Given the description of an element on the screen output the (x, y) to click on. 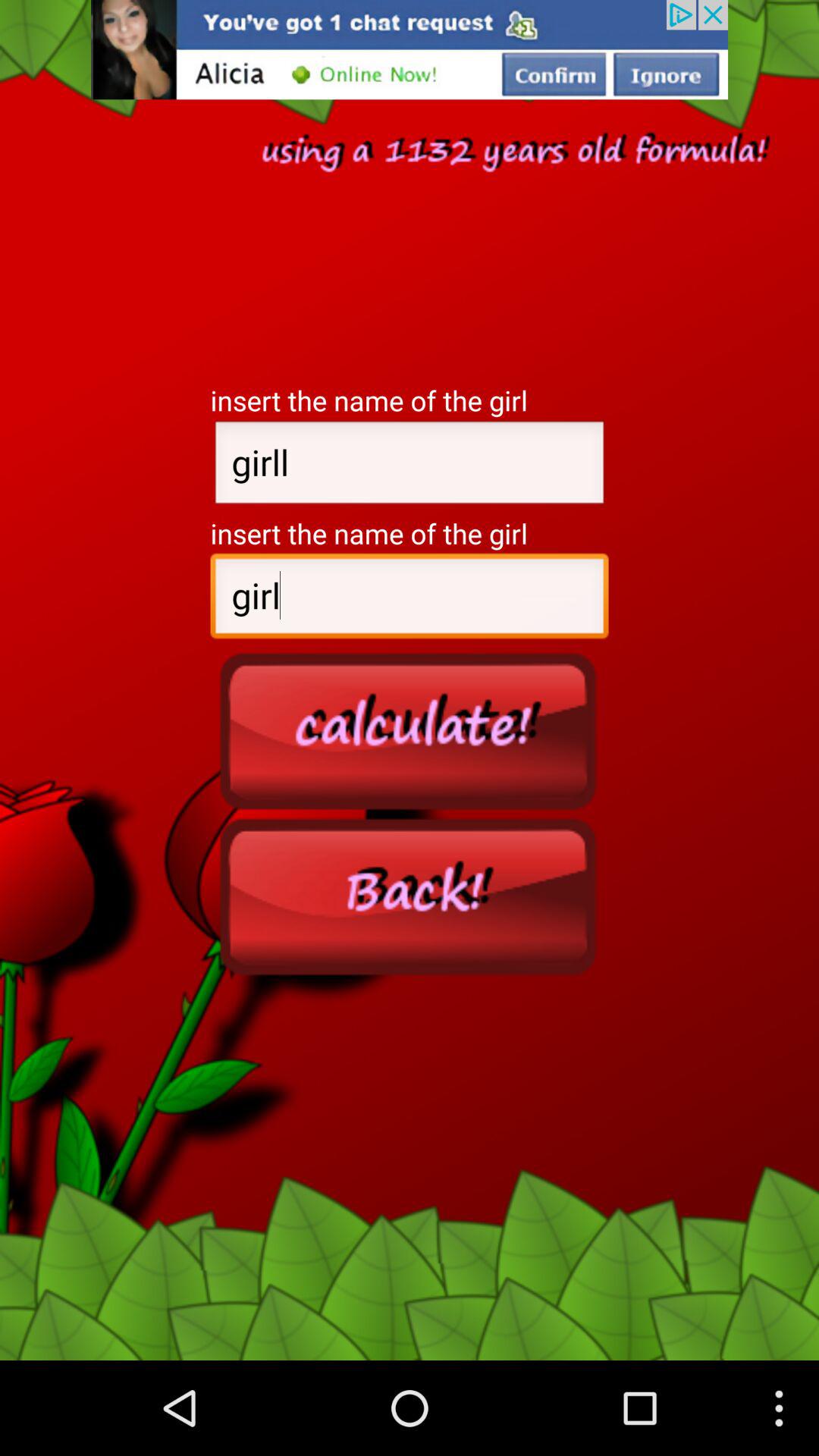
advertisement link (409, 49)
